Given the description of an element on the screen output the (x, y) to click on. 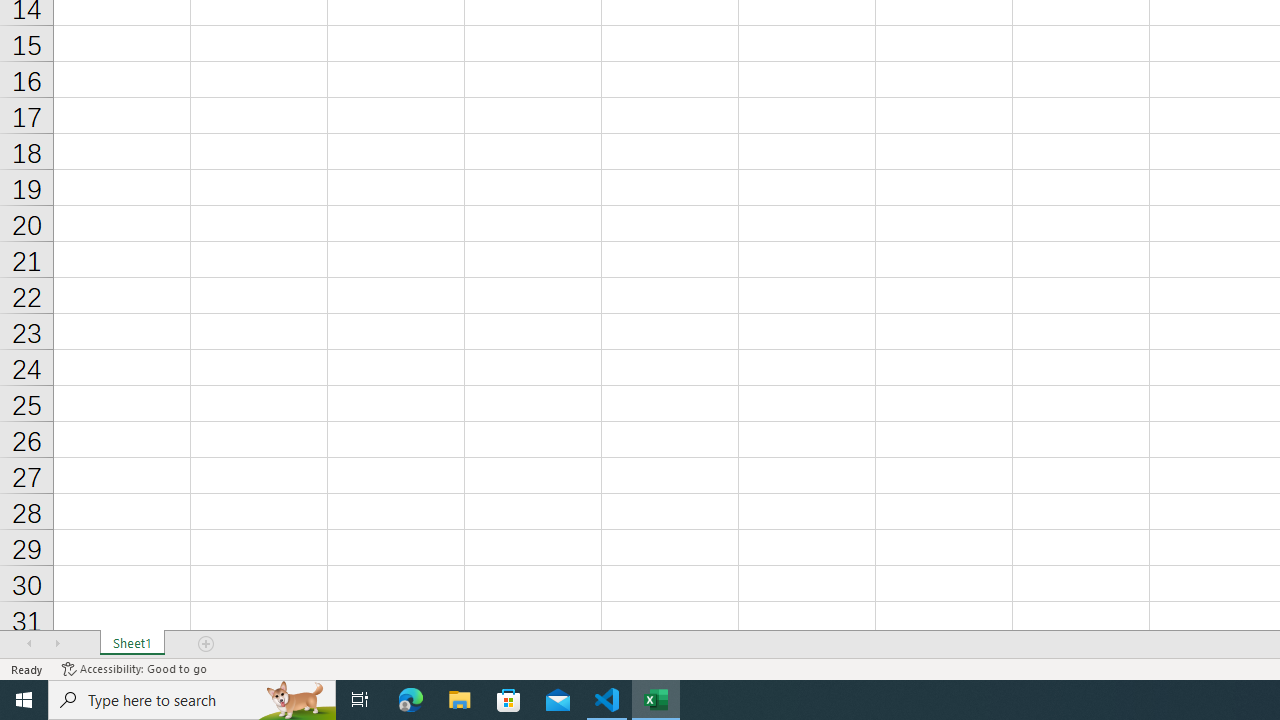
Scroll Right (57, 644)
Add Sheet (207, 644)
Accessibility Checker Accessibility: Good to go (134, 668)
Sheet1 (132, 644)
Scroll Left (29, 644)
